Given the description of an element on the screen output the (x, y) to click on. 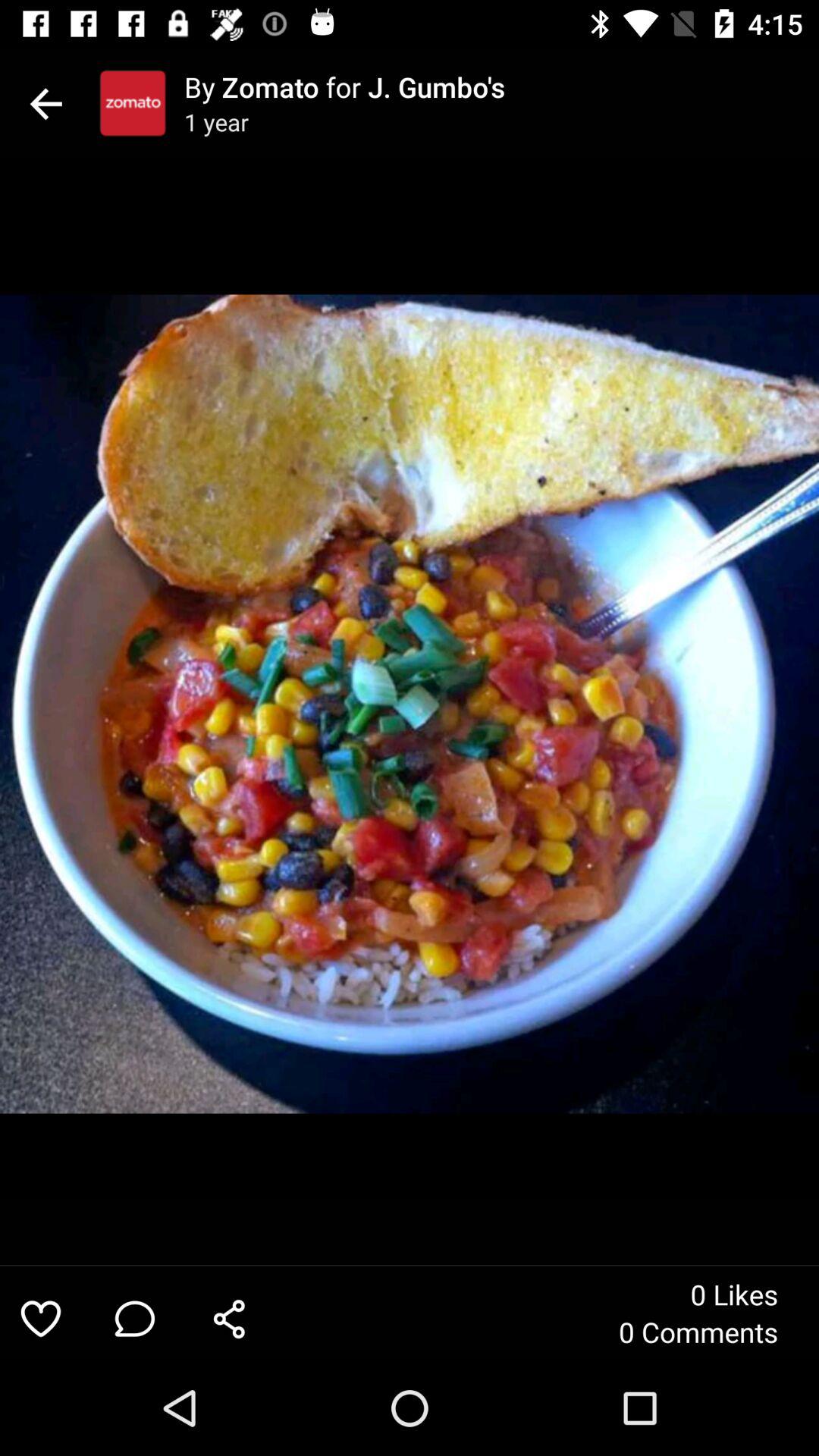
click the icon to the left of the 0 comments icon (229, 1317)
